Given the description of an element on the screen output the (x, y) to click on. 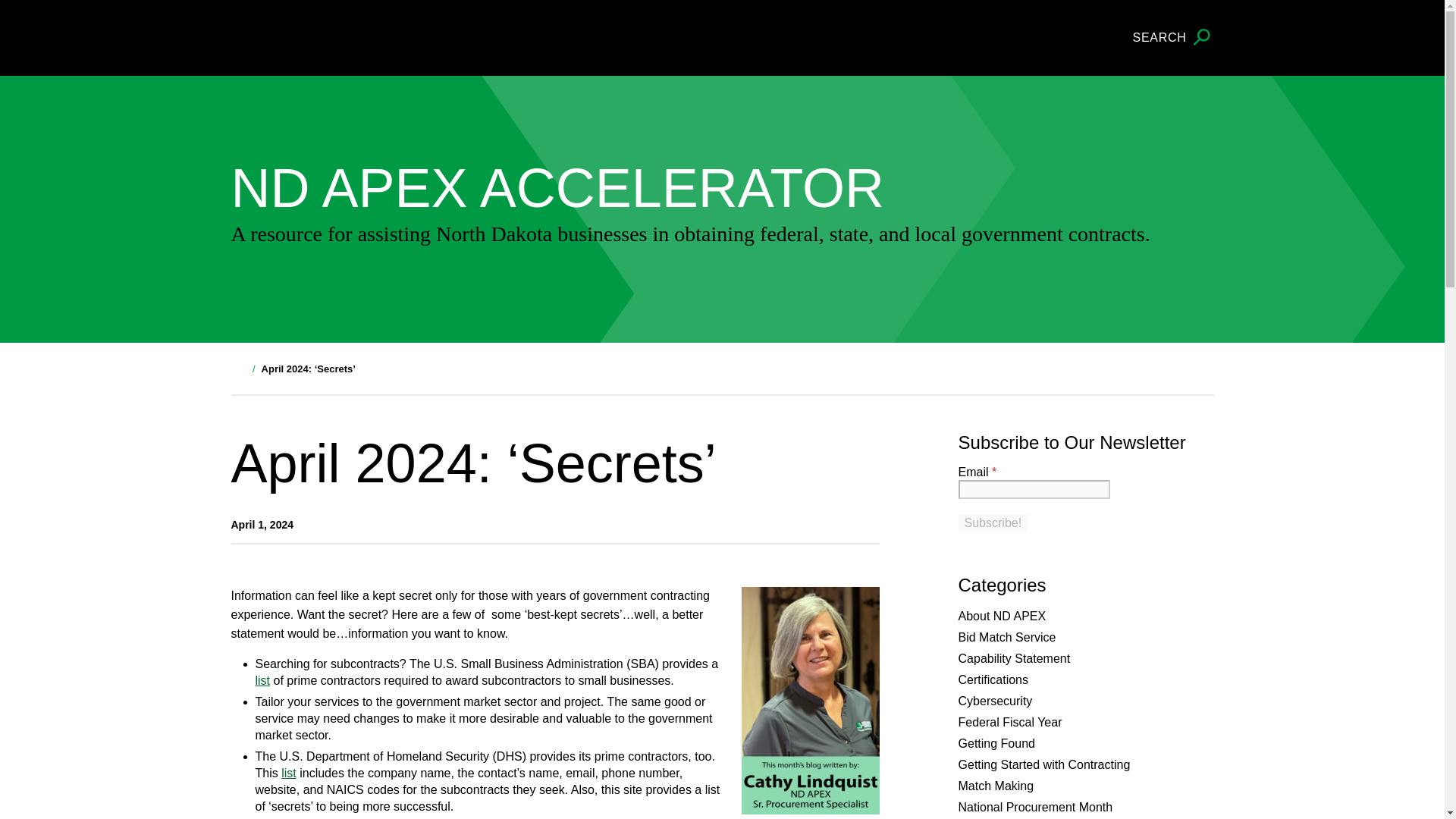
Cybersecurity (995, 700)
Bid Match Service (1007, 636)
SEARCH (1173, 37)
ND APEX ACCELERATOR (345, 188)
National Procurement Month (1035, 807)
Federal Fiscal Year (1010, 721)
Capability Statement (1014, 658)
Subscribe! (992, 523)
Email (1033, 488)
list (261, 680)
Match Making (995, 785)
Certifications (992, 679)
Getting Found (996, 743)
About ND APEX (1002, 615)
Subscribe! (992, 523)
